Given the description of an element on the screen output the (x, y) to click on. 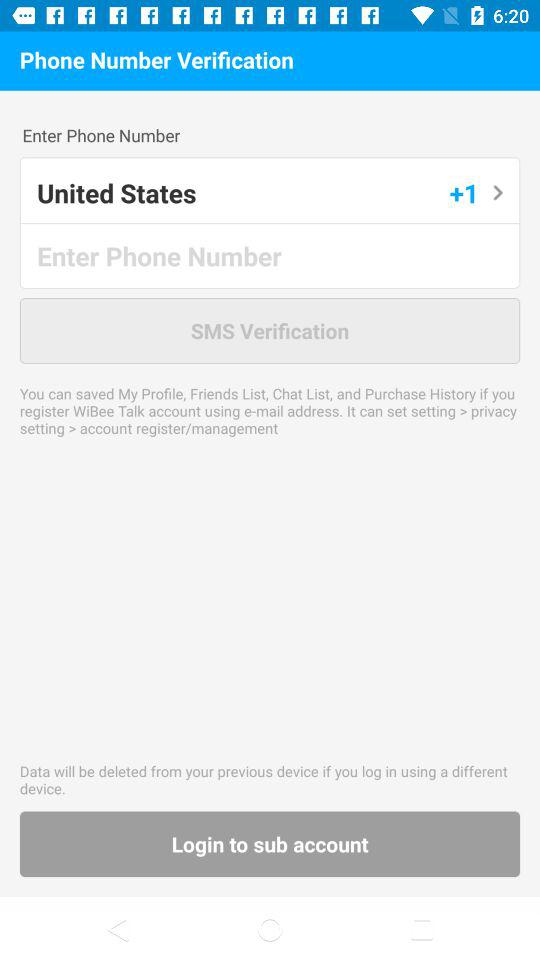
click item above the you can saved app (269, 330)
